Given the description of an element on the screen output the (x, y) to click on. 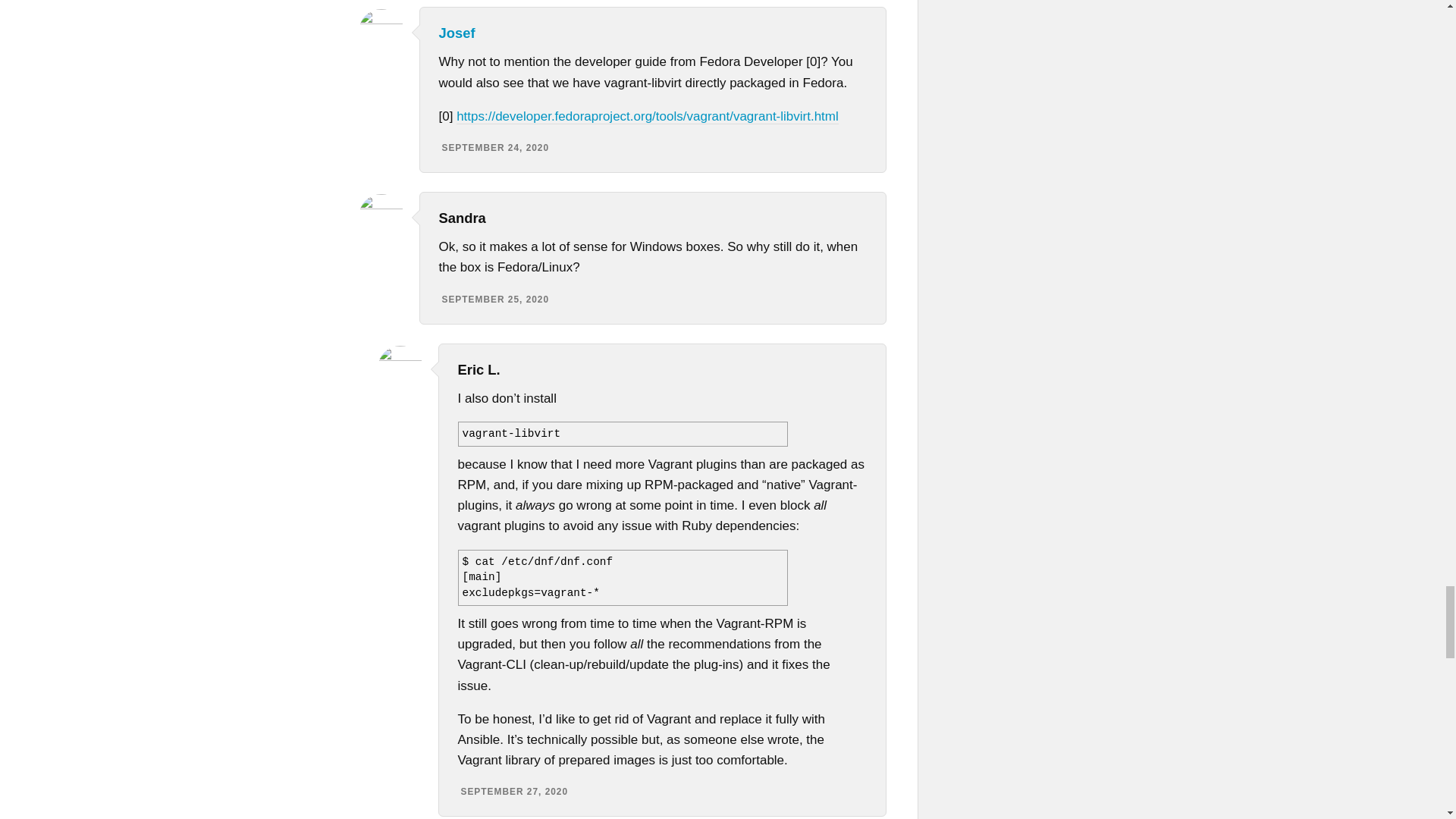
September 24, 2020 at 12:26 (494, 147)
